Given the description of an element on the screen output the (x, y) to click on. 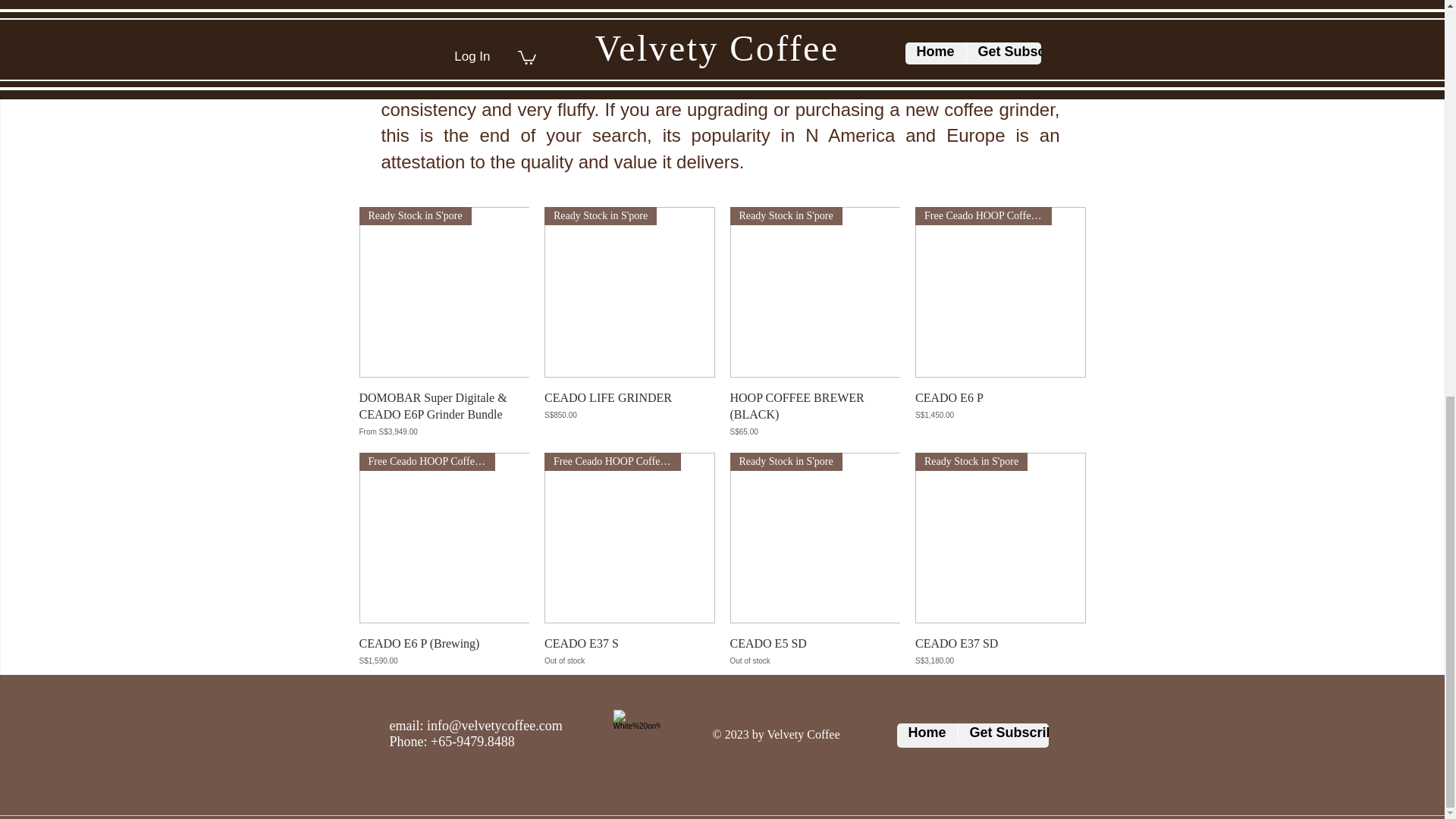
Free Ceado HOOP Coffee Brewer (1000, 292)
Ready Stock in S'pore (629, 292)
Free Ceado HOOP Coffee Brewer (629, 537)
Ready Stock in S'pore (444, 292)
Free Ceado HOOP Coffee Brewer (444, 537)
Ready Stock in S'pore (814, 292)
